Given the description of an element on the screen output the (x, y) to click on. 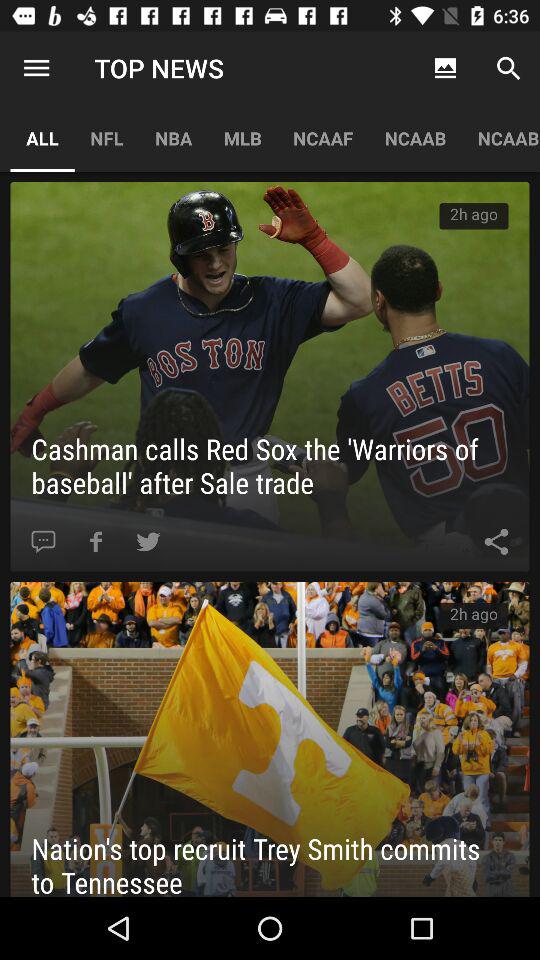
choose the icon below cashman calls red icon (148, 541)
